Given the description of an element on the screen output the (x, y) to click on. 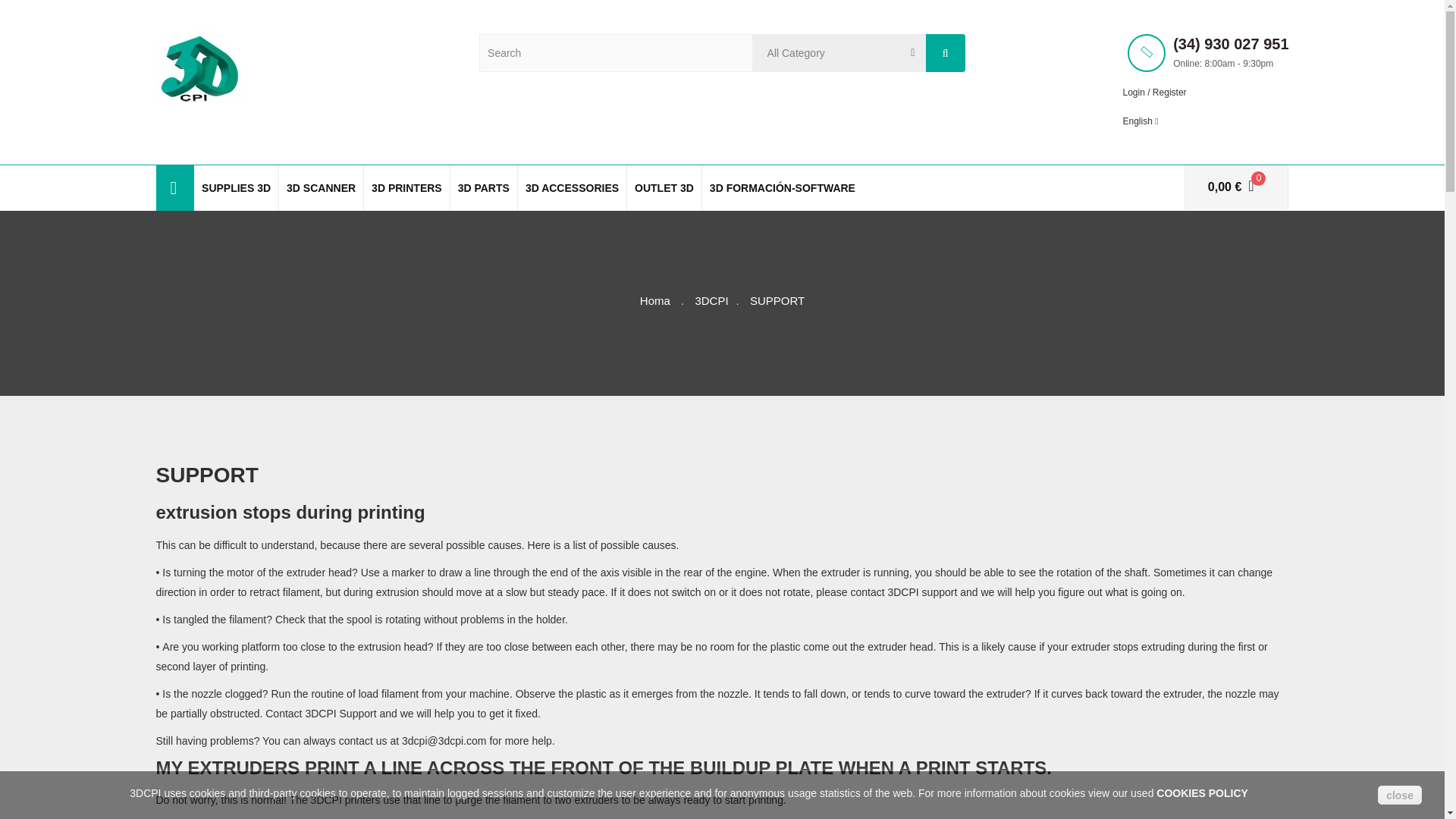
3DCPI PRODYSOL (199, 66)
